Given the description of an element on the screen output the (x, y) to click on. 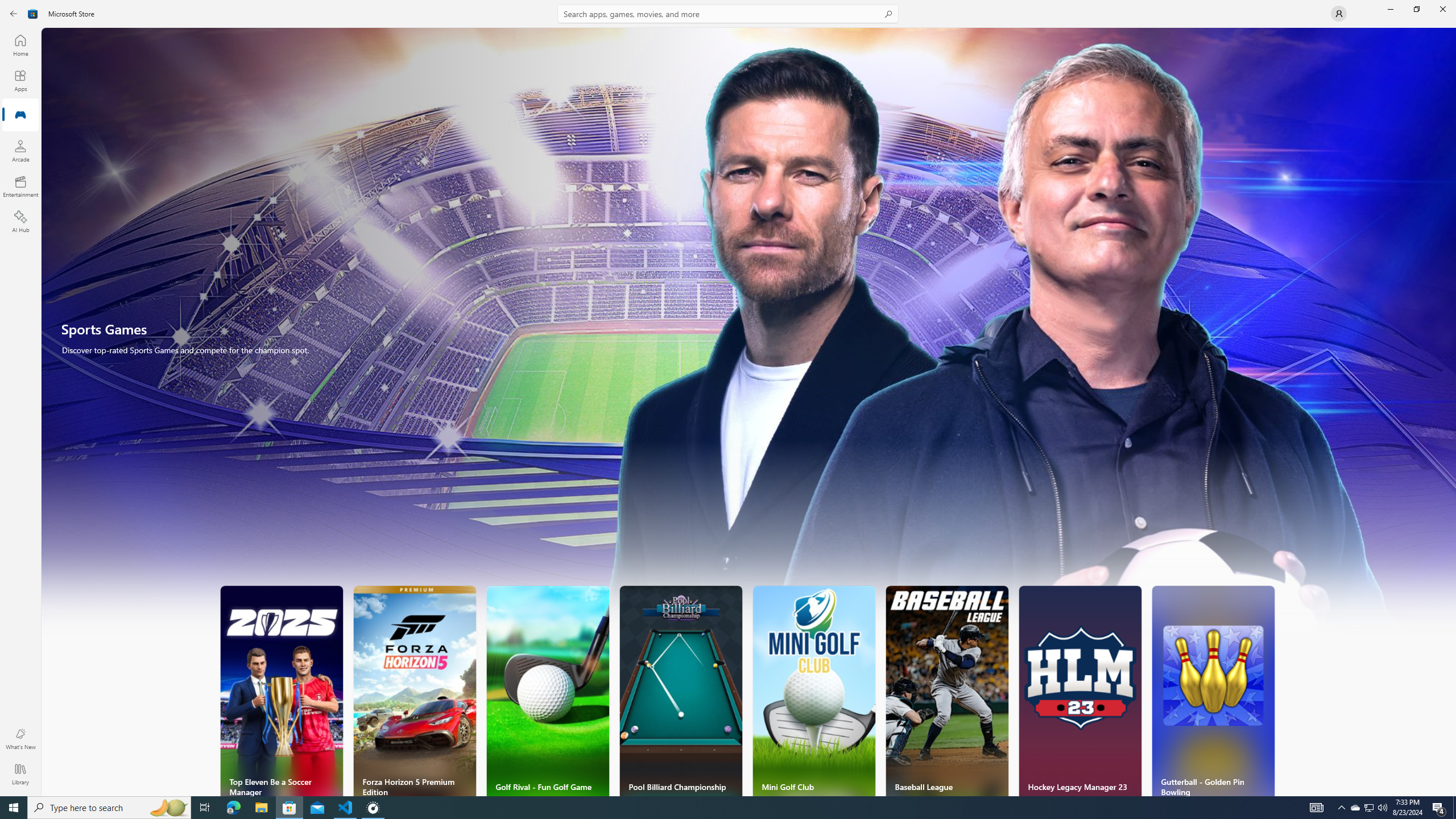
AutomationID: NavigationControl (728, 398)
